Given the description of an element on the screen output the (x, y) to click on. 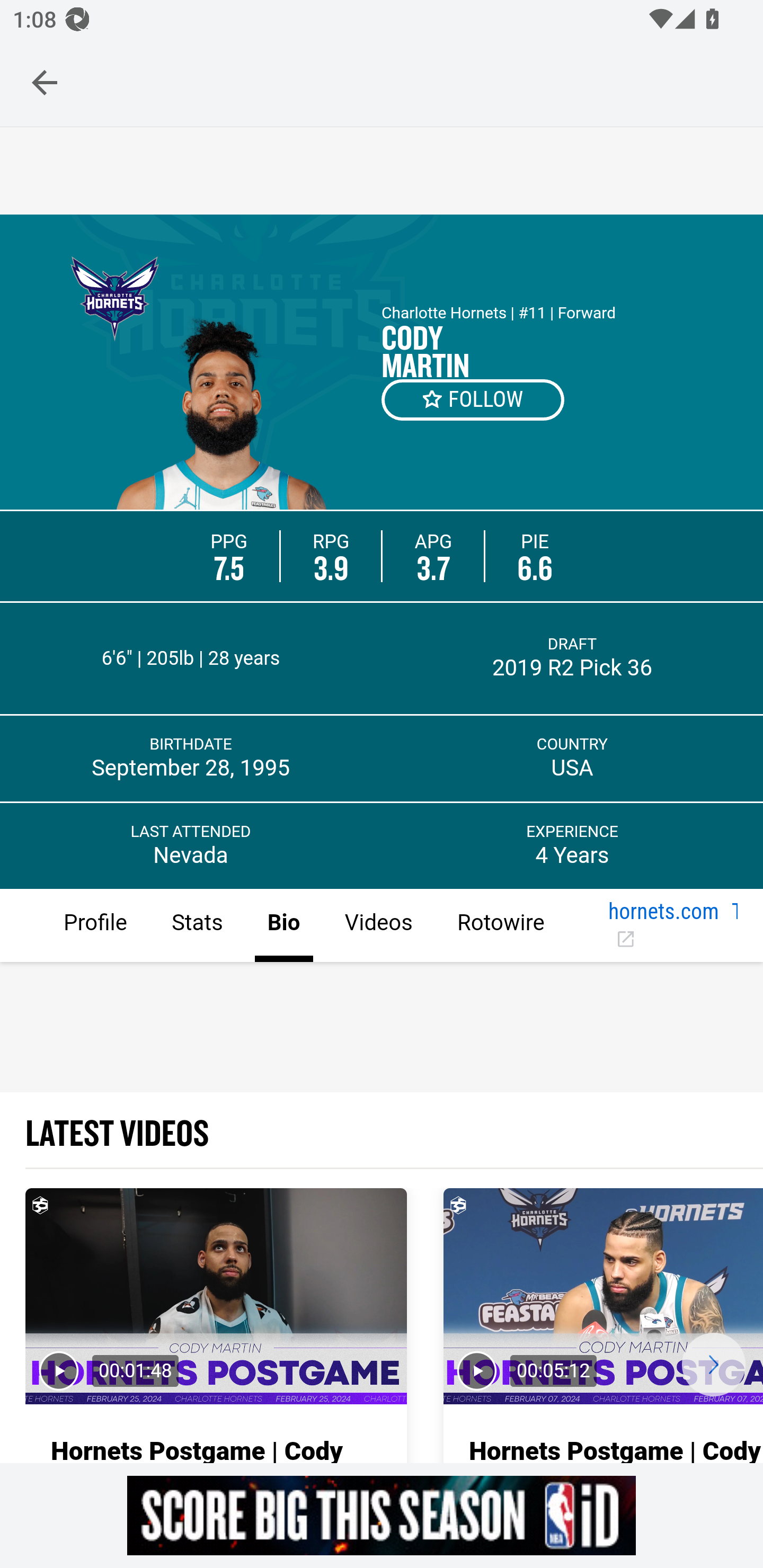
Navigate up (44, 82)
Charlotte Hornets Logo (114, 297)
FOLLOW (473, 399)
Profile (95, 926)
Stats (196, 926)
Bio (283, 926)
Videos (377, 926)
Rotowire (500, 926)
hornets.com (663, 926)
Carousel Button (713, 1364)
